Given the description of an element on the screen output the (x, y) to click on. 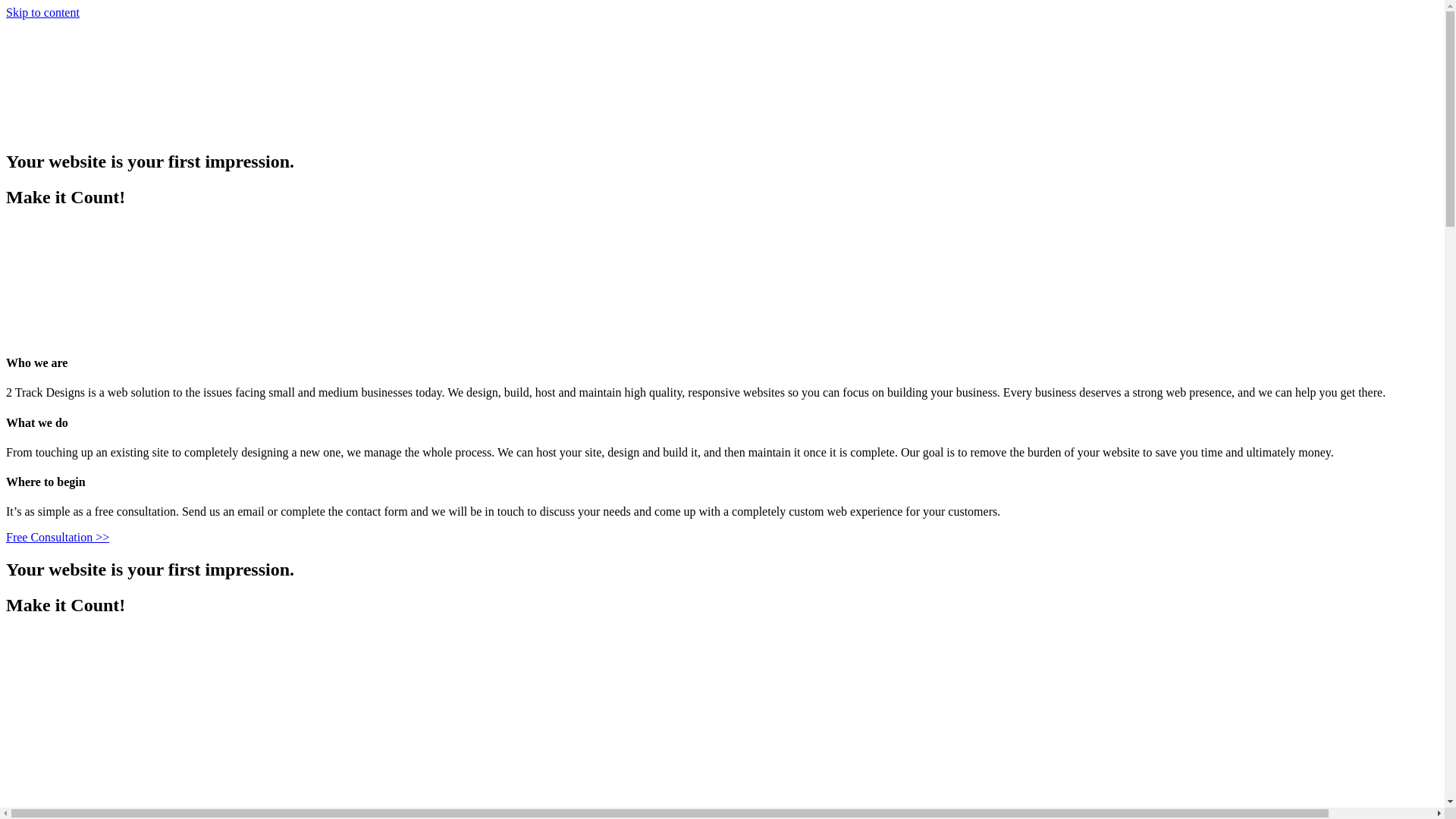
Free Consultation >> Element type: text (57, 536)
Skip to content Element type: text (42, 12)
